Given the description of an element on the screen output the (x, y) to click on. 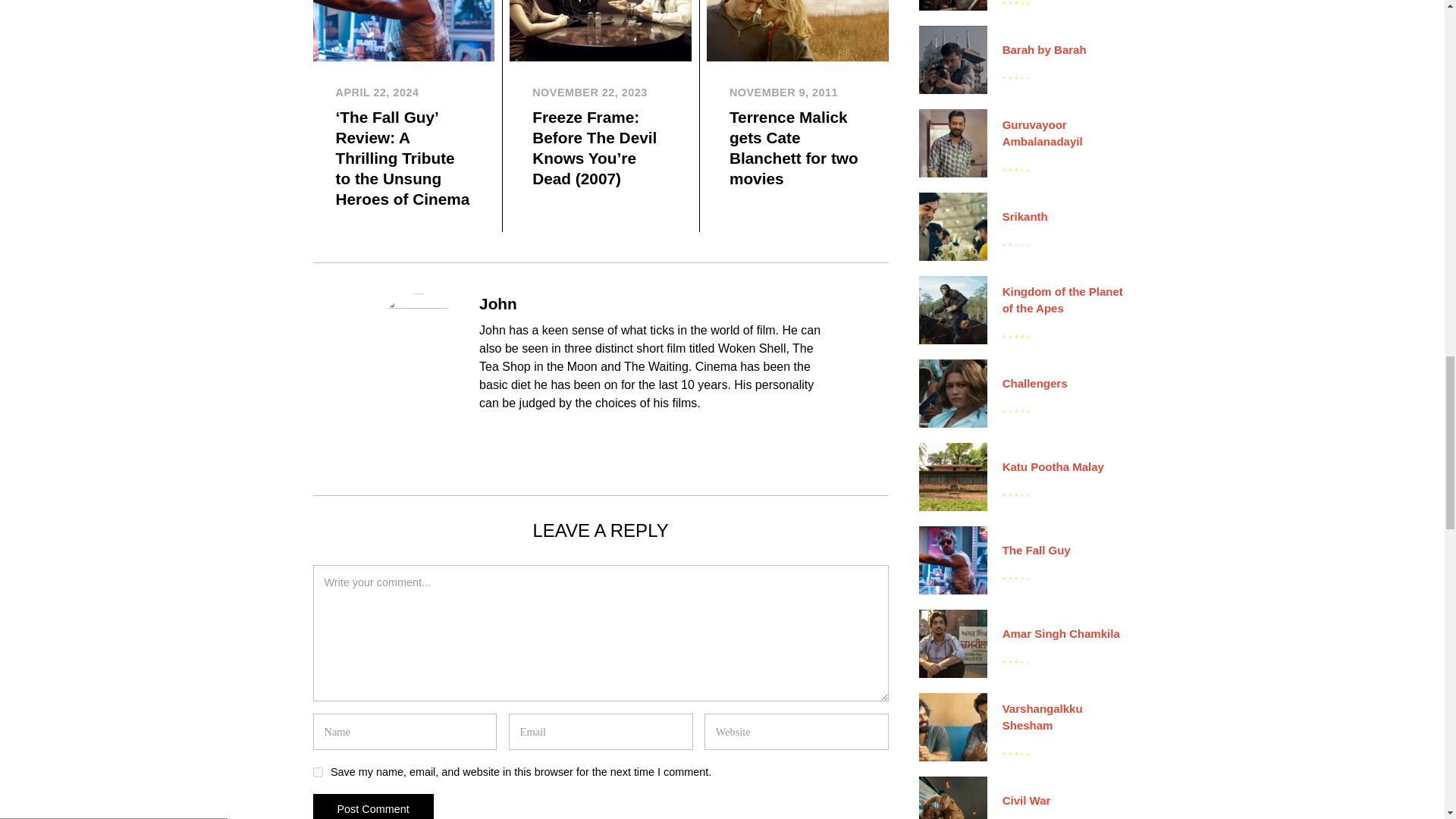
yes (317, 772)
Post Comment (372, 806)
